Given the description of an element on the screen output the (x, y) to click on. 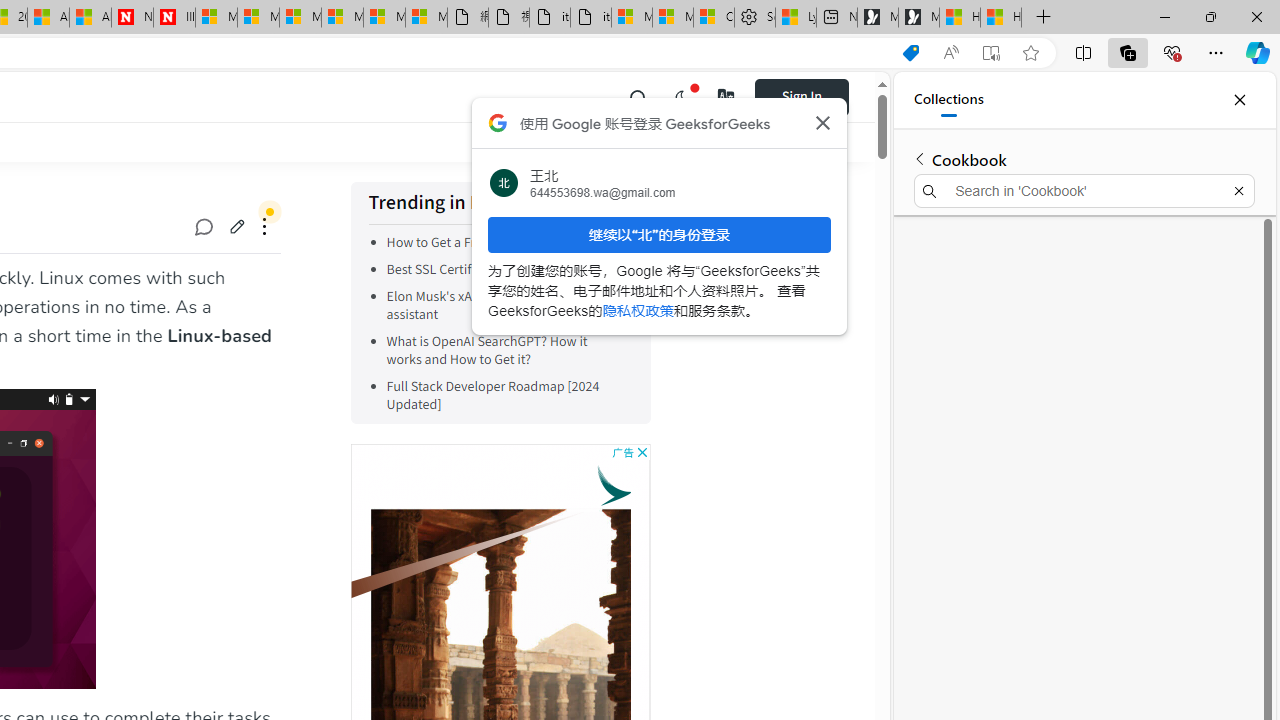
How to Get a Free SSL Certificate (481, 242)
Full Stack Developer Roadmap [2024 Updated] (493, 395)
Search in 'Cookbook' (1084, 190)
View More (596, 203)
toggle theme (682, 96)
Sign In (815, 96)
Back to list of collections (920, 158)
How to Use a TV as a Computer Monitor (1000, 17)
Exit search (1238, 190)
Class: Bz112c Bz112c-r9oPif (822, 122)
